Given the description of an element on the screen output the (x, y) to click on. 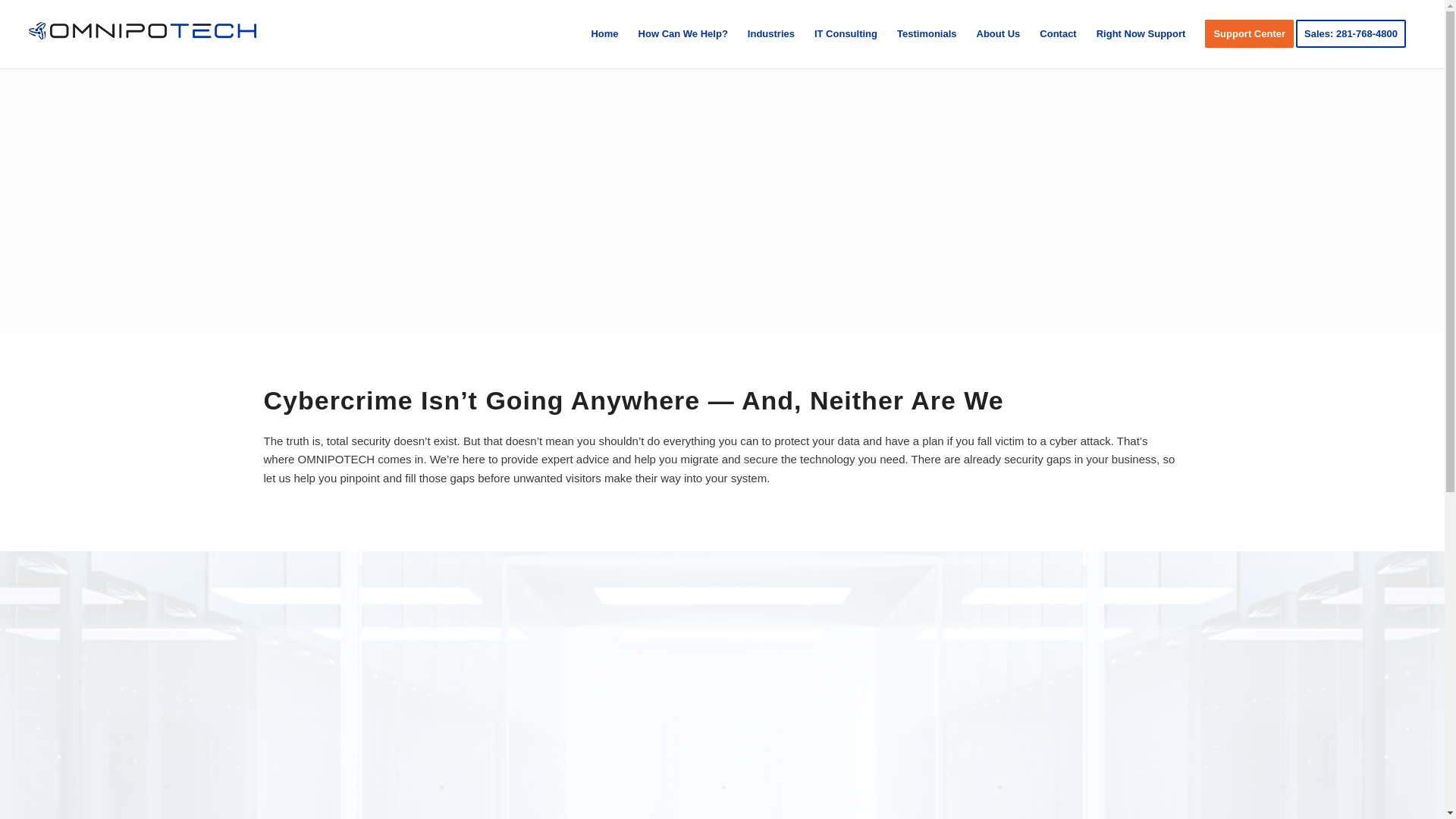
How Can We Help? (683, 33)
Industries (771, 33)
IT Consulting (845, 33)
